Given the description of an element on the screen output the (x, y) to click on. 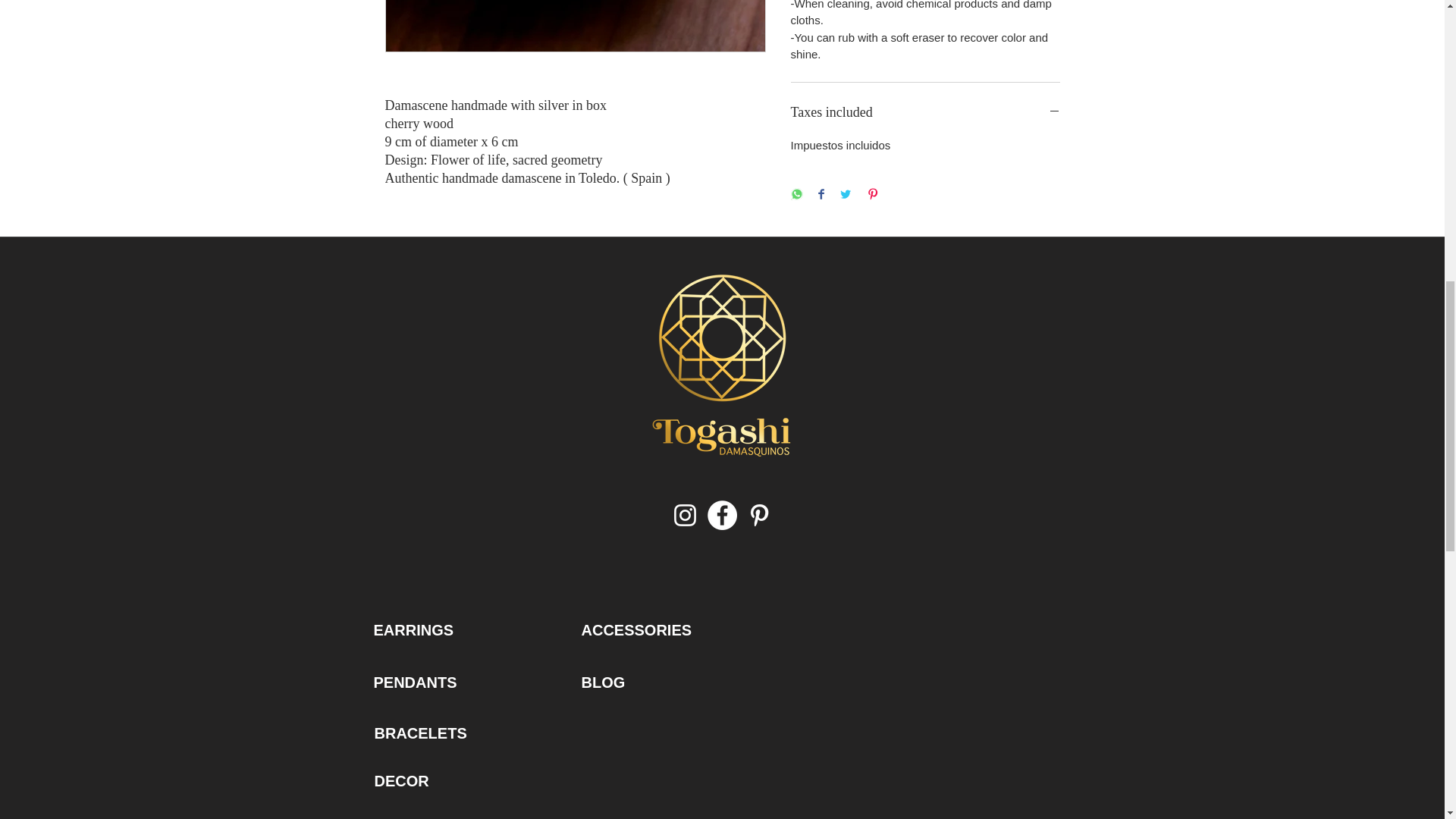
DECOR (401, 781)
Taxes included (924, 112)
ACCESSORIES (635, 629)
PENDANTS (414, 682)
BLOG (602, 682)
BRACELETS (420, 733)
EARRINGS (412, 629)
